Given the description of an element on the screen output the (x, y) to click on. 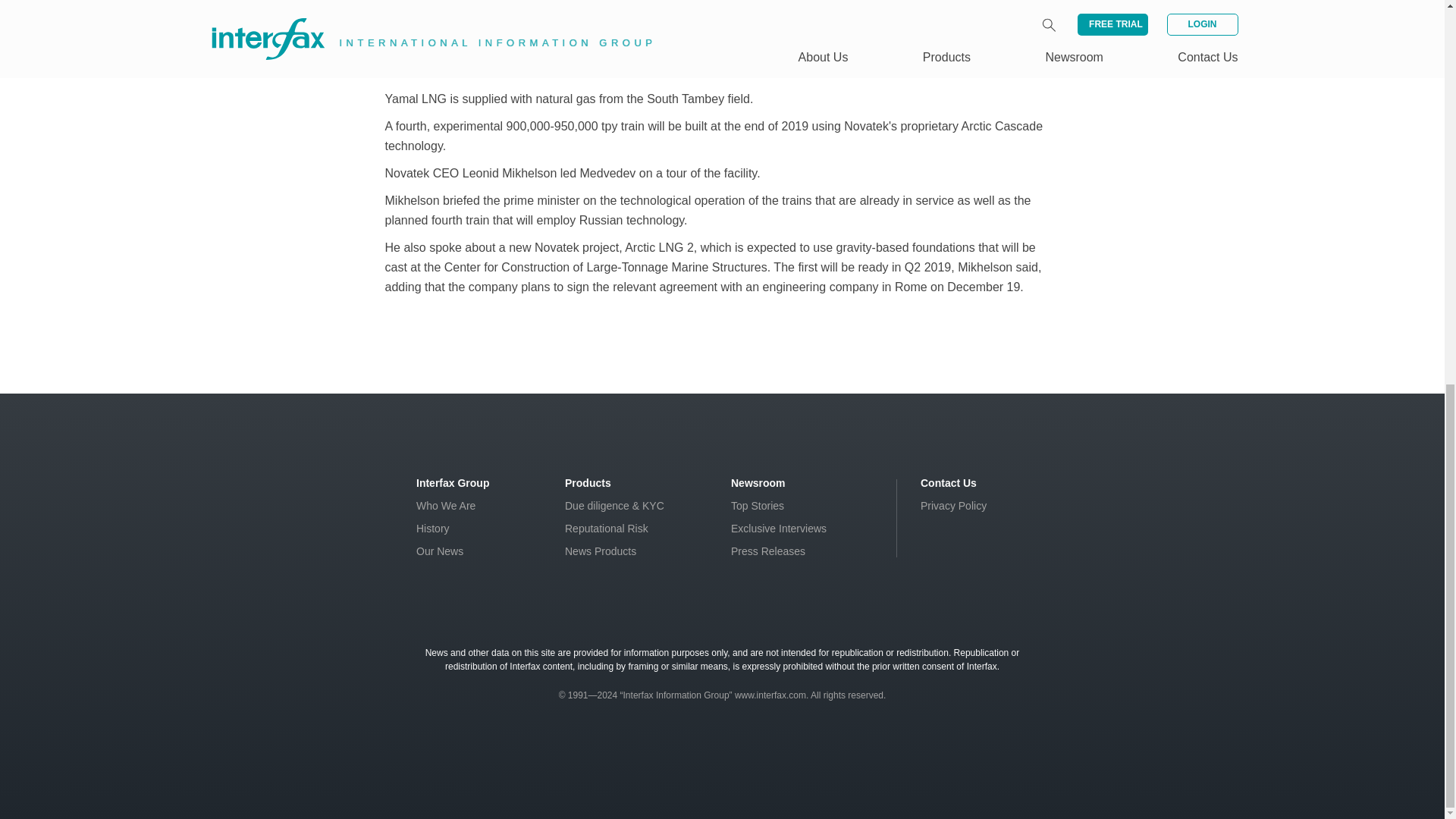
Who We Are (446, 505)
History (432, 528)
Our News (439, 551)
Interfax Group (452, 482)
